Given the description of an element on the screen output the (x, y) to click on. 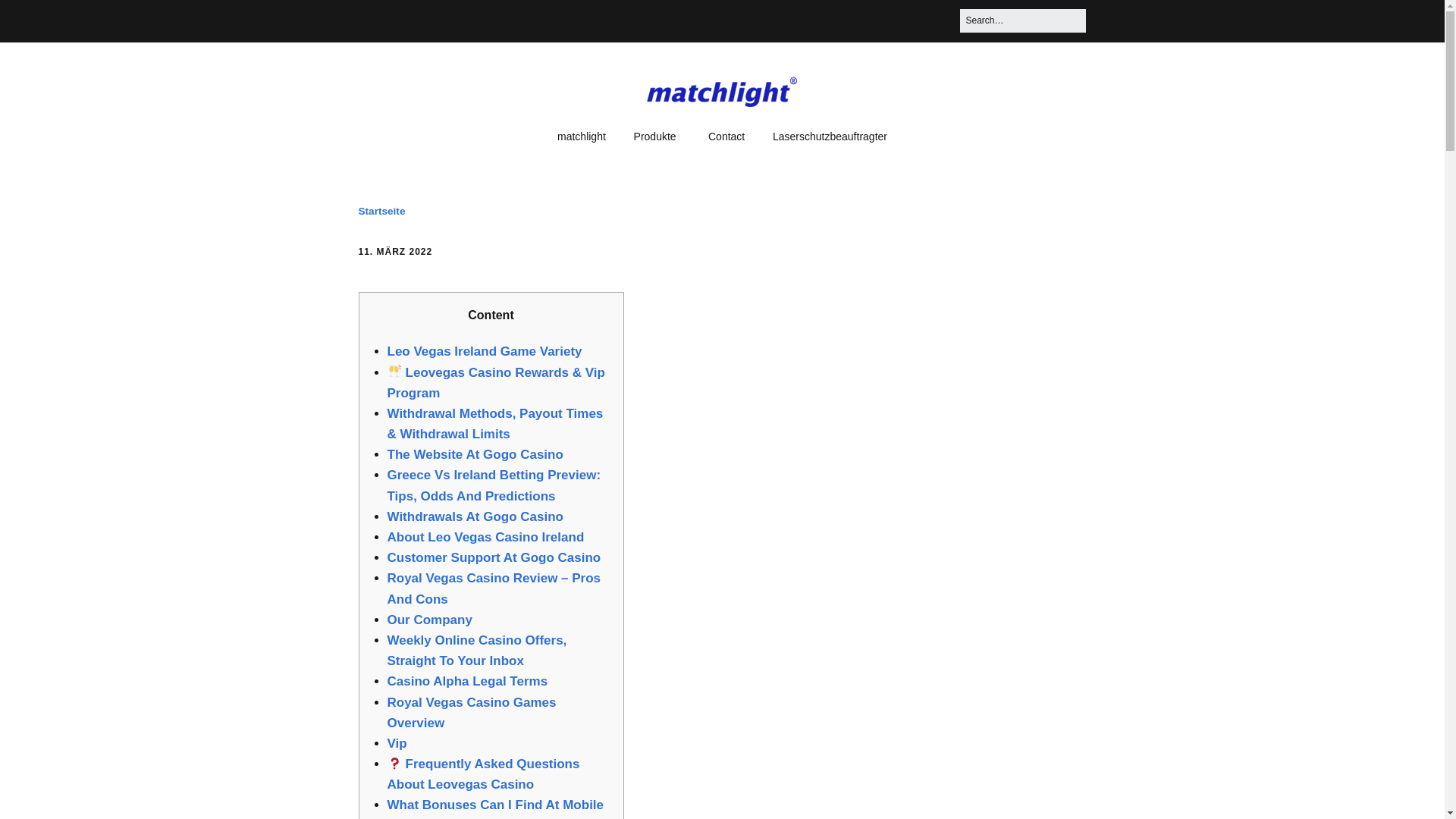
Casino Alpha Legal Terms (467, 681)
About Leo Vegas Casino Ireland (485, 536)
Withdrawals At Gogo Casino (475, 516)
Startseite (381, 211)
Contact (726, 137)
What Bonuses Can I Find At Mobile Casinos In Ireland? (495, 808)
The Website At Gogo Casino (474, 454)
Frequently Asked Questions About Leovegas Casino (483, 773)
Laserschutzbeauftragter (829, 137)
Leo Vegas Ireland Game Variety (483, 350)
Produkte (657, 137)
matchlight (580, 137)
Royal Vegas Casino Games Overview (471, 711)
Our Company (429, 619)
Weekly Online Casino Offers, Straight To Your Inbox (476, 650)
